Given the description of an element on the screen output the (x, y) to click on. 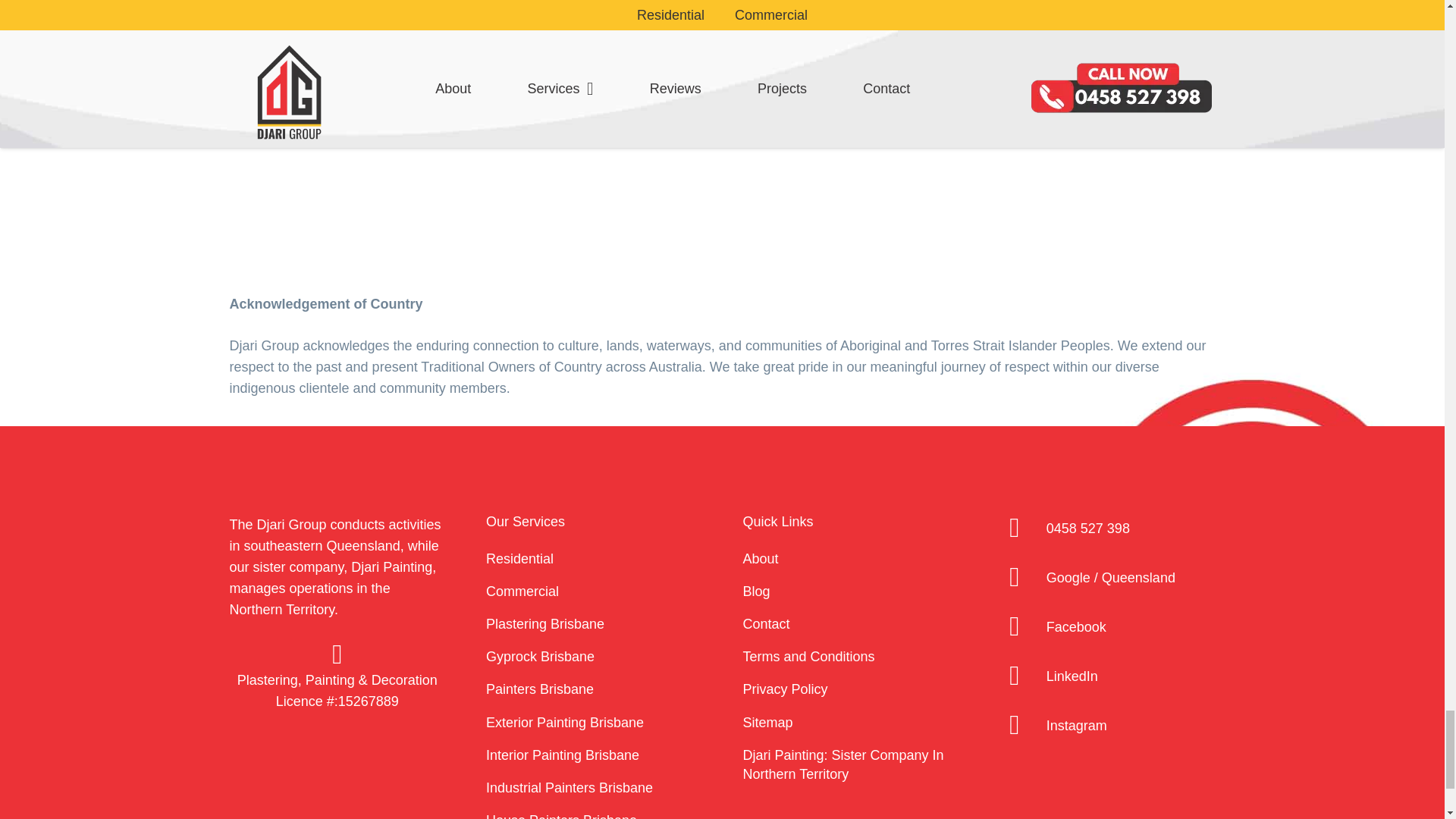
Interior Painting Brisbane (562, 754)
Blog (756, 590)
Commercial (522, 590)
Exterior Painting Brisbane (564, 722)
About (760, 558)
Gyprock Brisbane (540, 656)
Contact (766, 623)
Terms and Conditions (808, 656)
Industrial Painters Brisbane (569, 787)
Painters Brisbane (540, 688)
Residential (519, 558)
Djari Painting (391, 566)
Plastering Brisbane (545, 623)
House Painters Brisbane (561, 816)
